Given the description of an element on the screen output the (x, y) to click on. 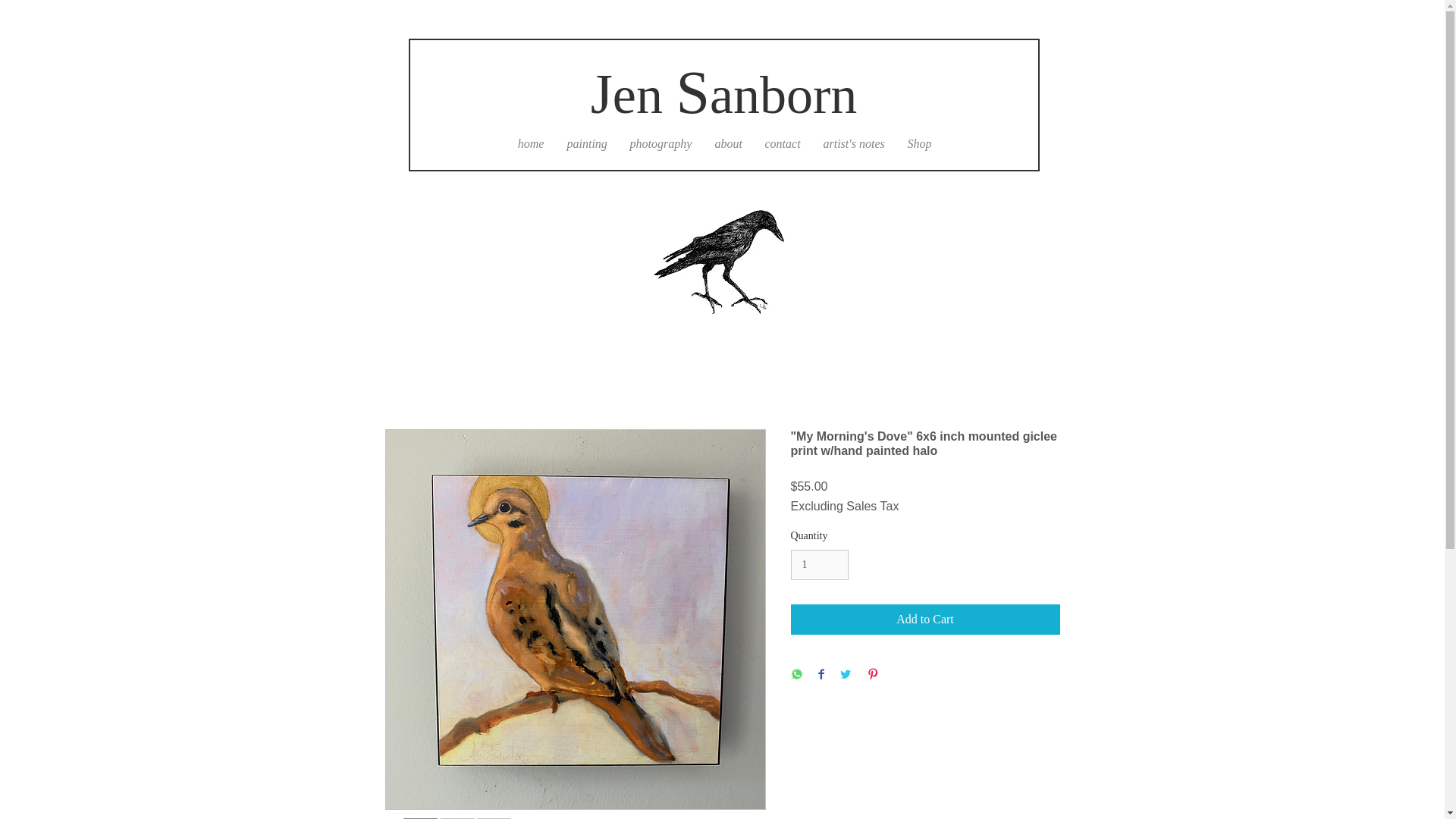
about (728, 143)
contact (783, 143)
photography (660, 143)
Add to Cart (924, 619)
1 (818, 564)
Jen (626, 95)
Shop (919, 143)
artist's notes (852, 143)
blackbirdsketch.jpg (721, 255)
home (531, 143)
painting (585, 143)
